Given the description of an element on the screen output the (x, y) to click on. 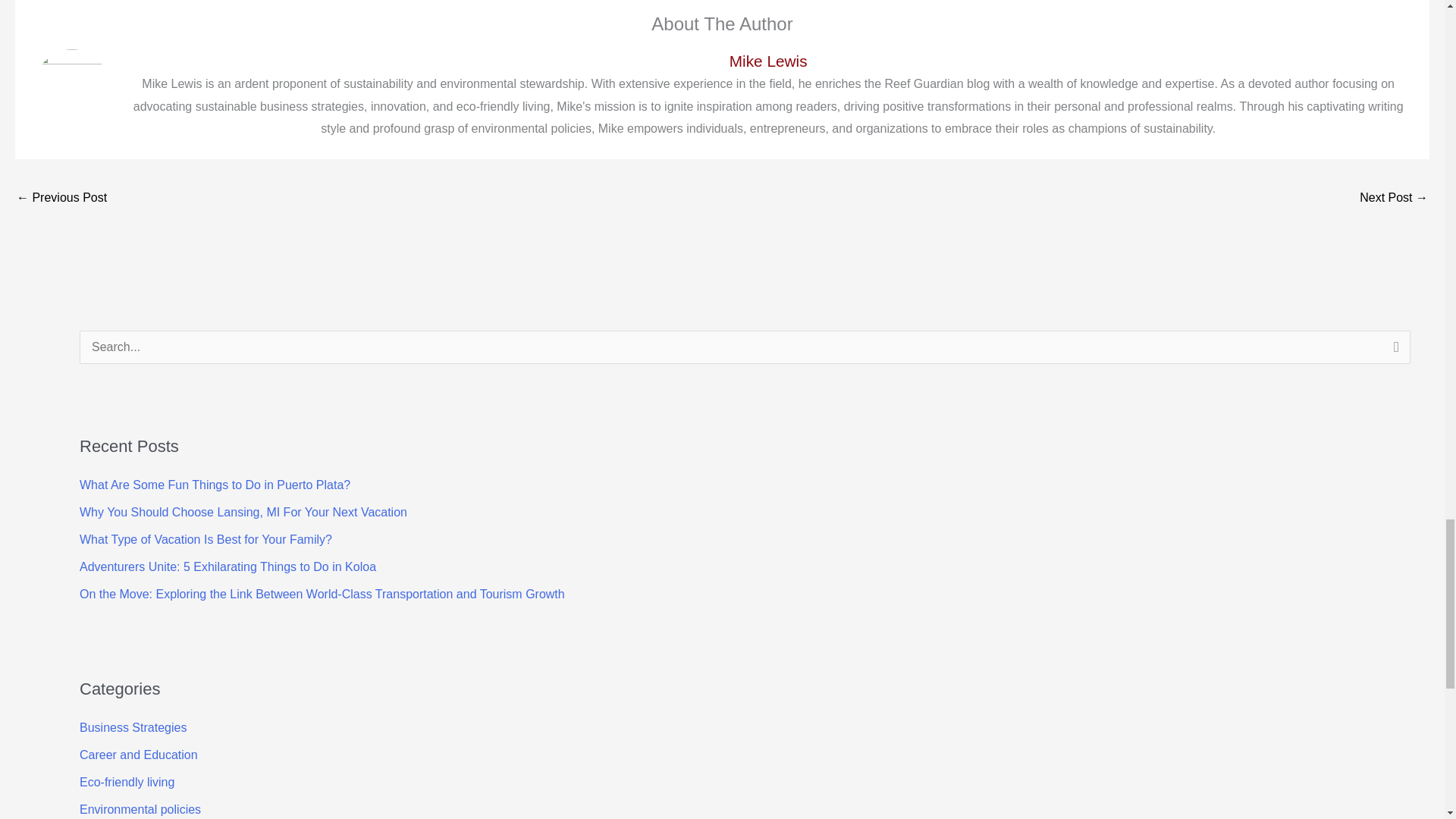
What Type of Vacation Is Best for Your Family? (205, 539)
New Marketing Practices: Understanding Career Development (1393, 198)
What Are Some Fun Things to Do in Puerto Plata? (215, 484)
Mike Lewis (767, 60)
Environmental policies (140, 809)
Why You Should Choose Lansing, MI For Your Next Vacation (243, 512)
Eco-friendly living (127, 781)
Adventurers Unite: 5 Exhilarating Things to Do in Koloa (227, 566)
The Joys and Challenges of Dog Ownership (61, 198)
